Given the description of an element on the screen output the (x, y) to click on. 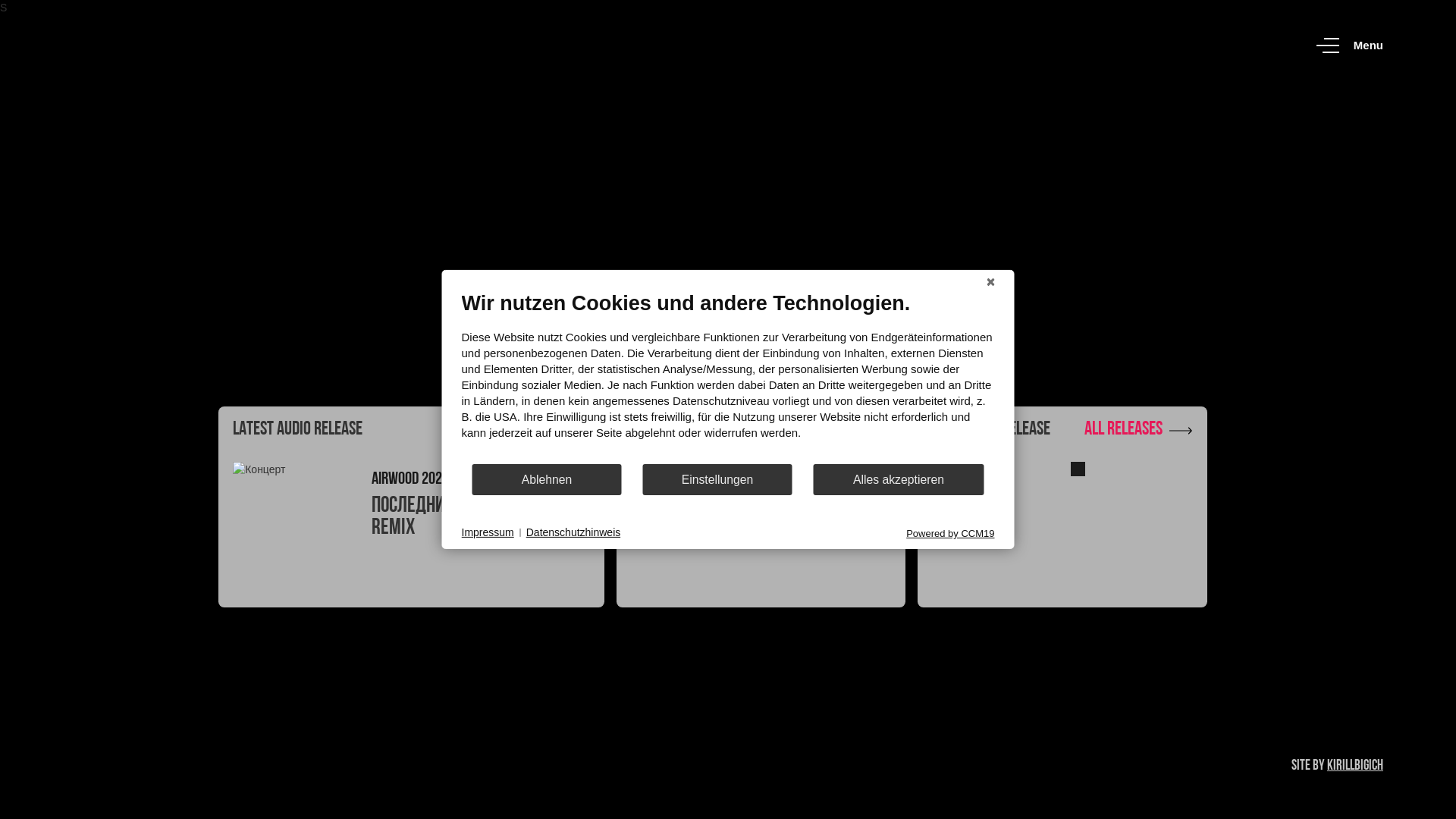
Einstellungen Element type: text (717, 479)
Datenschutzhinweis Element type: text (573, 532)
Impressum Element type: text (487, 532)
Powered by CCM19 Element type: text (950, 533)
ALL RELEASES Element type: text (534, 429)
Close Element type: hover (990, 281)
ALL RELEASES Element type: text (1138, 429)
Site by kirillbigich Element type: text (1337, 766)
ALL VIDEOS Element type: text (844, 429)
Alles akzeptieren Element type: text (897, 479)
Ablehnen Element type: text (546, 479)
